Given the description of an element on the screen output the (x, y) to click on. 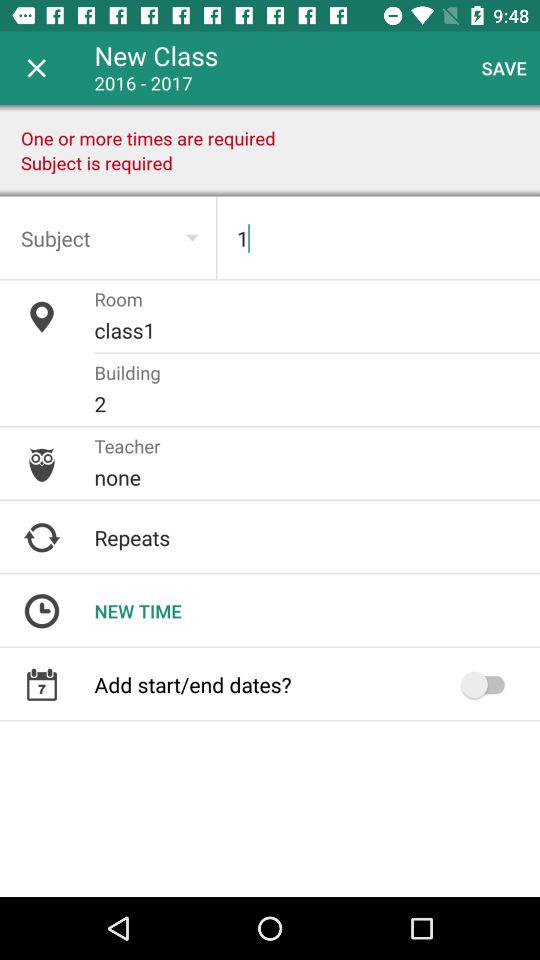
choose subject (108, 238)
